Given the description of an element on the screen output the (x, y) to click on. 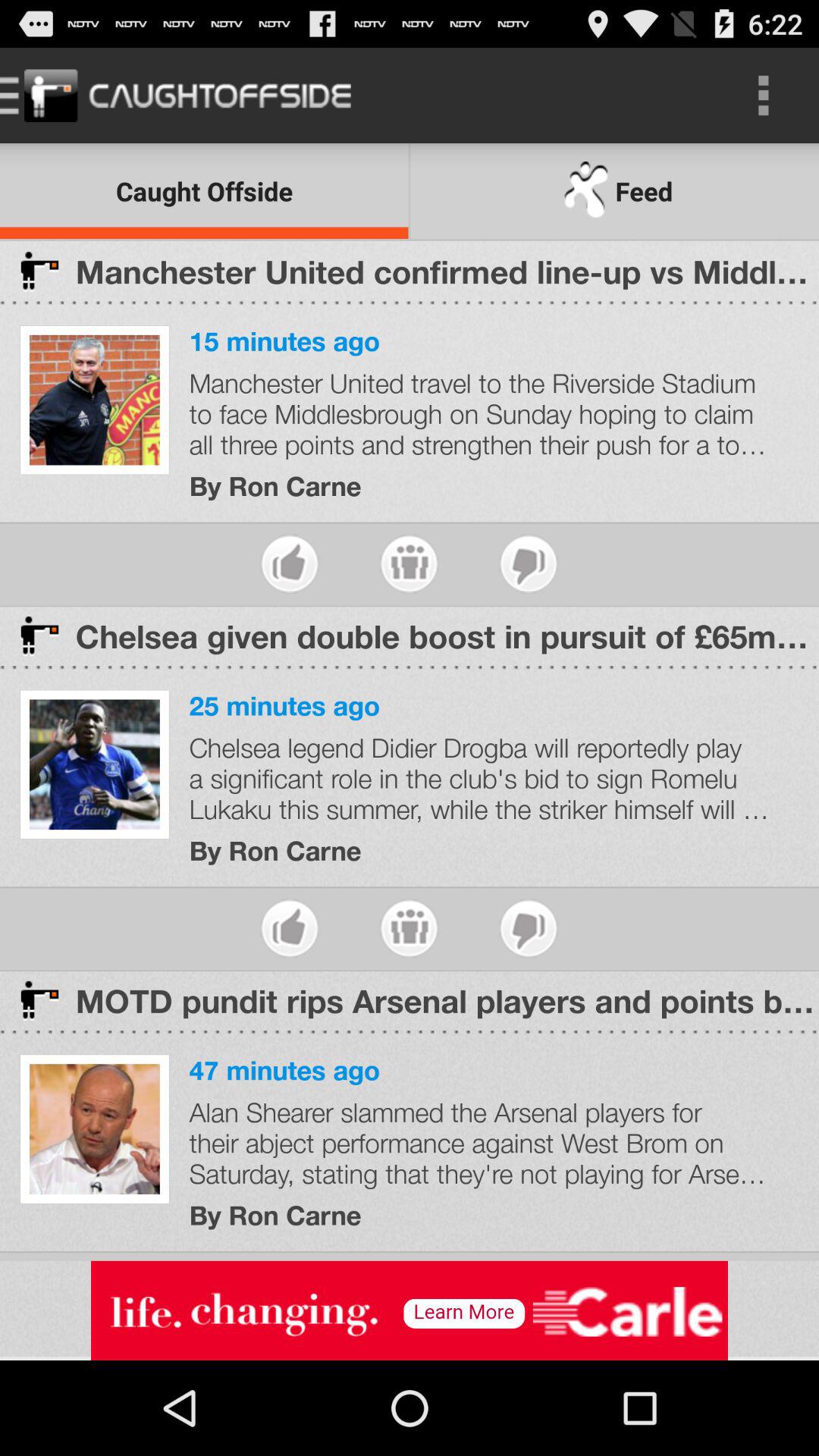
like story (289, 928)
